Given the description of an element on the screen output the (x, y) to click on. 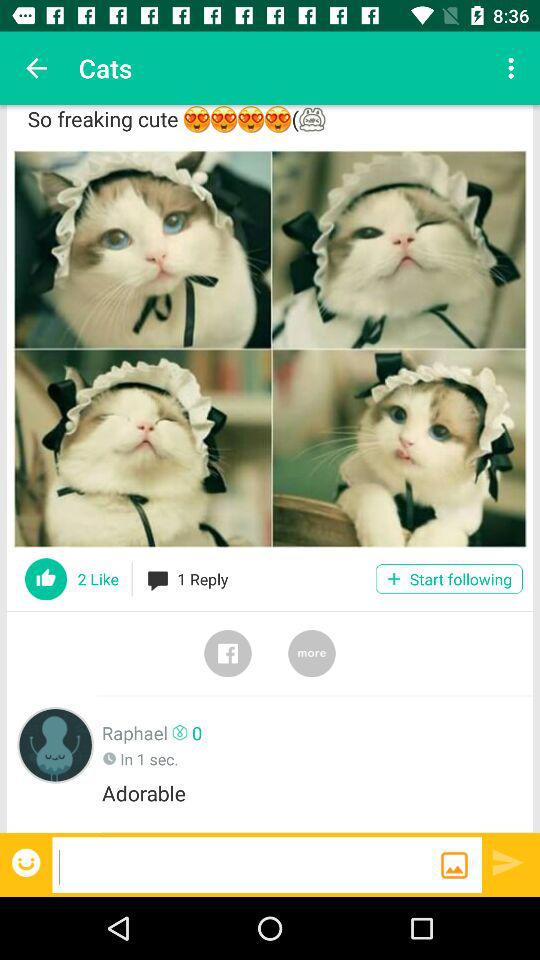
smileys (28, 862)
